Given the description of an element on the screen output the (x, y) to click on. 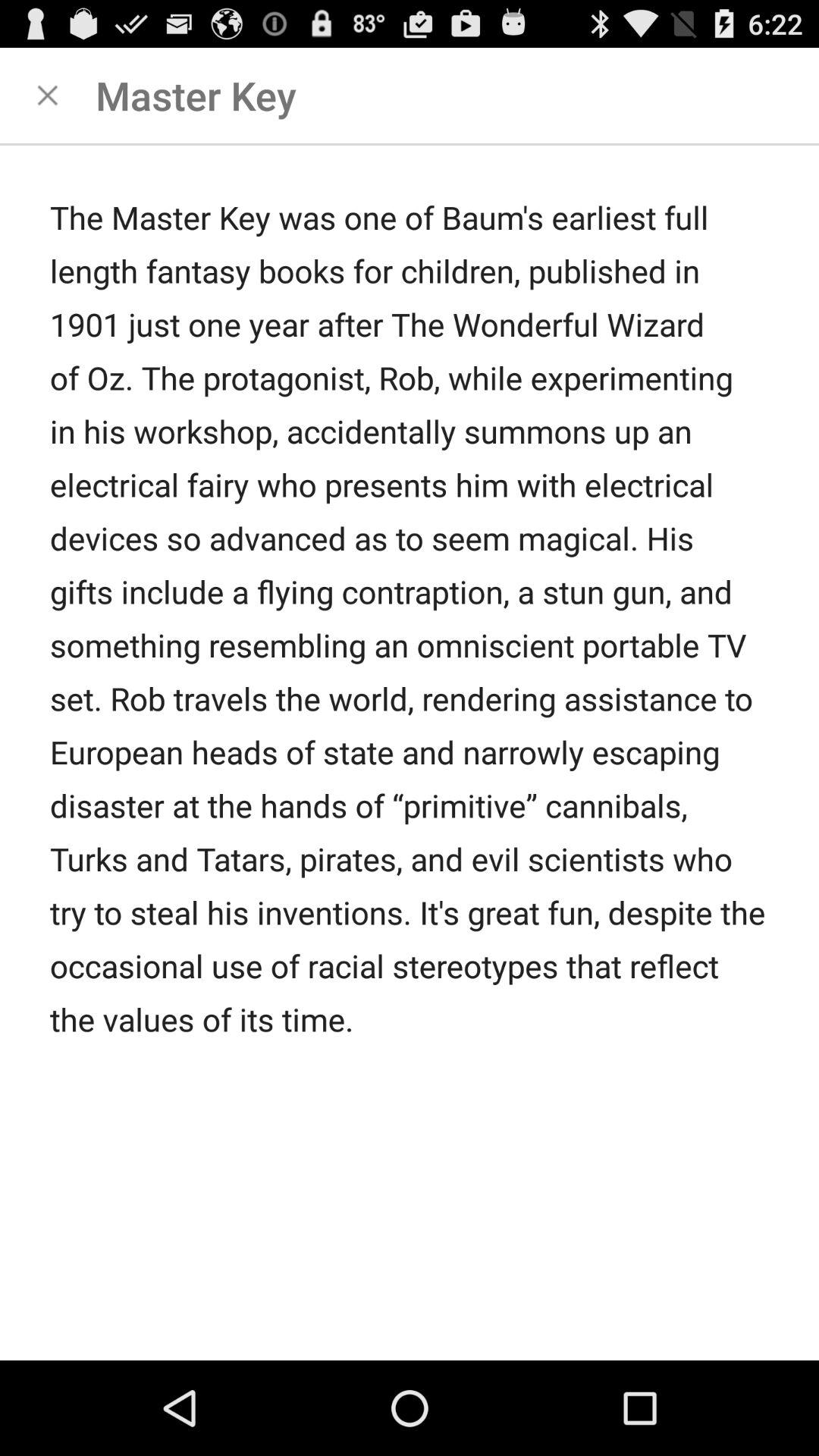
click item to the left of the master key icon (47, 95)
